Given the description of an element on the screen output the (x, y) to click on. 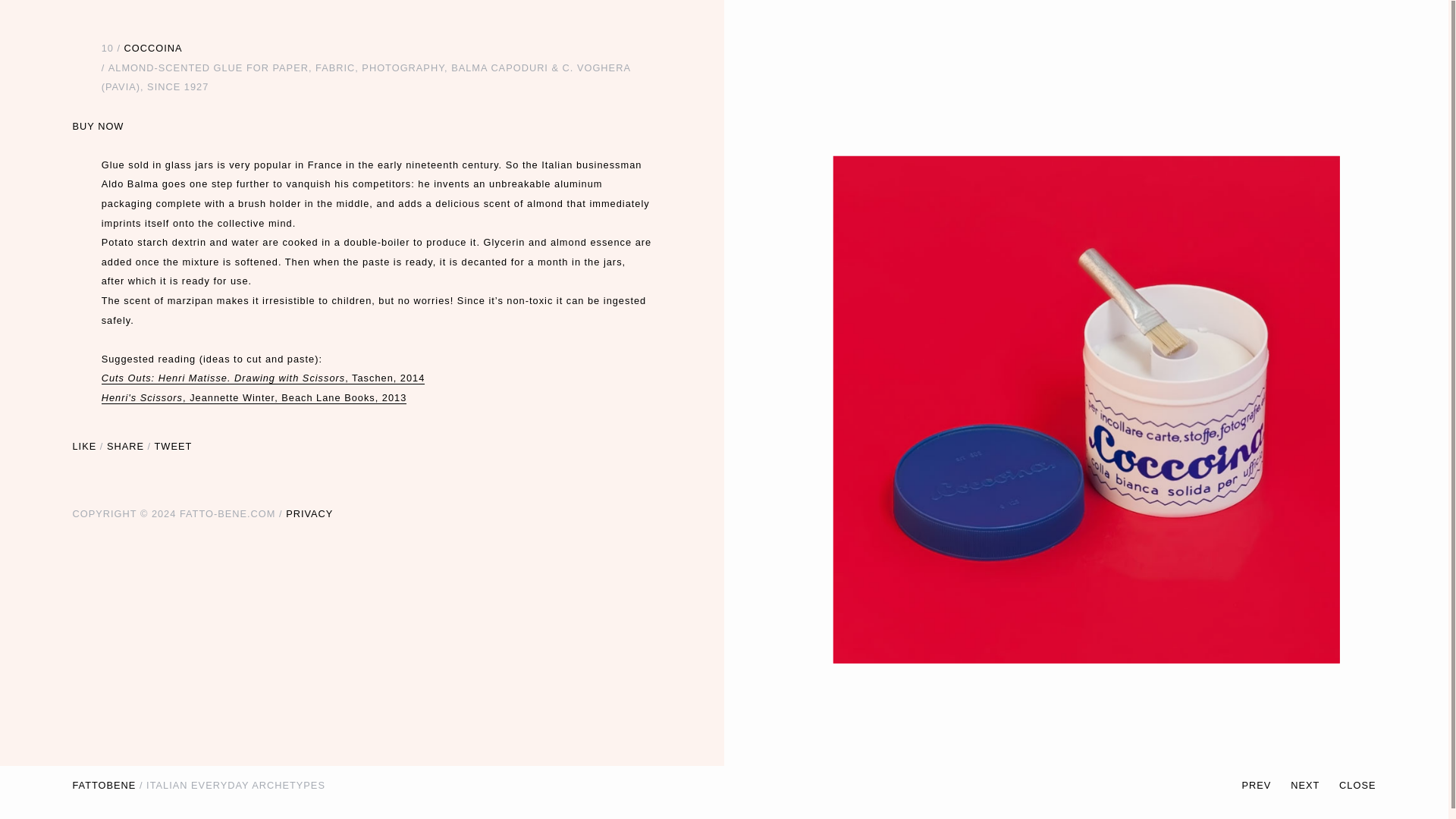
PREV (1266, 784)
CLOSE (1357, 784)
NEXT (1314, 784)
Privacy Policy (309, 513)
FATTOBENE (104, 784)
